Given the description of an element on the screen output the (x, y) to click on. 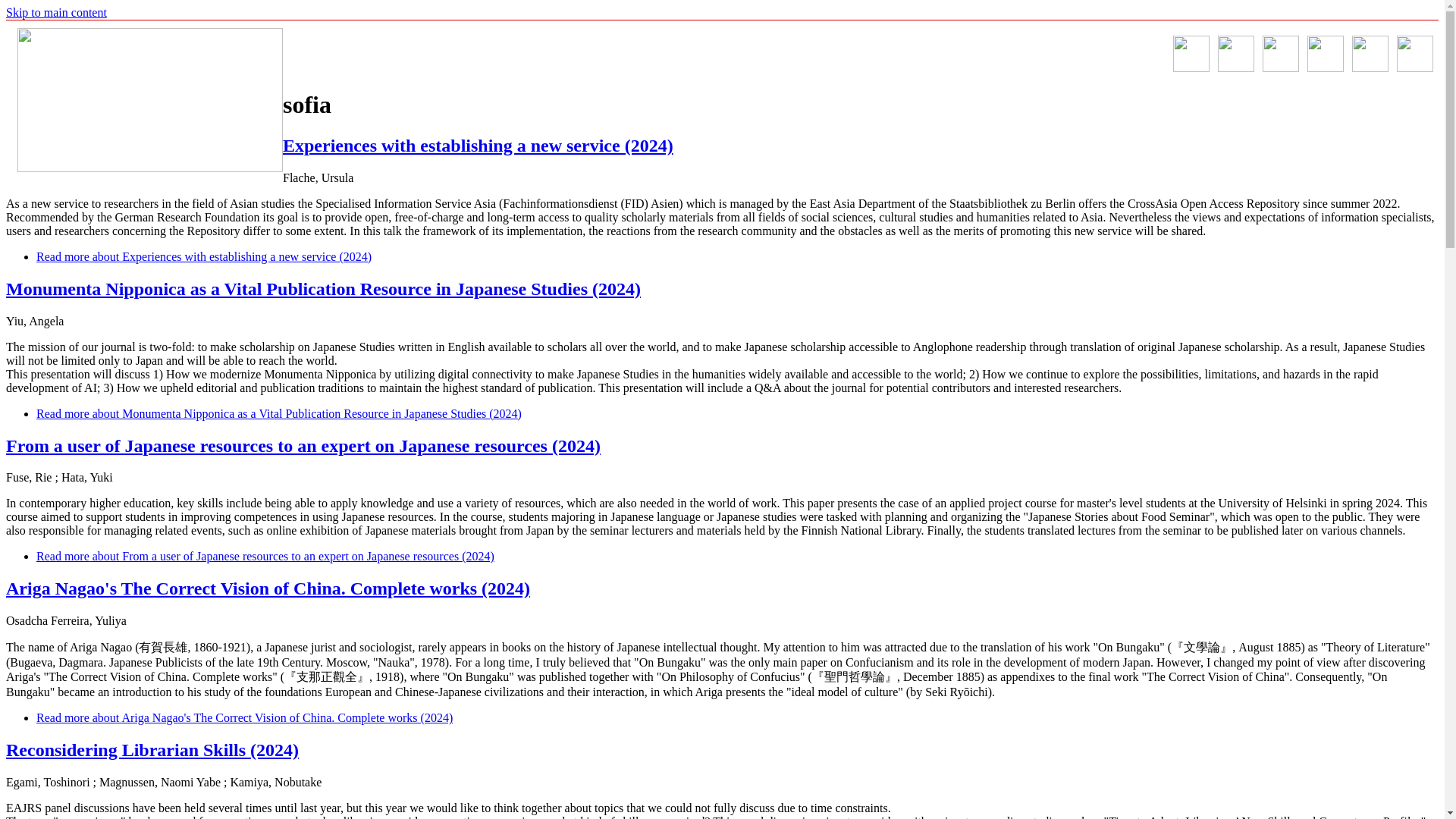
about (1235, 54)
Skip to main content (55, 11)
kuzushiji (1280, 54)
home (149, 99)
news (1191, 54)
